Given the description of an element on the screen output the (x, y) to click on. 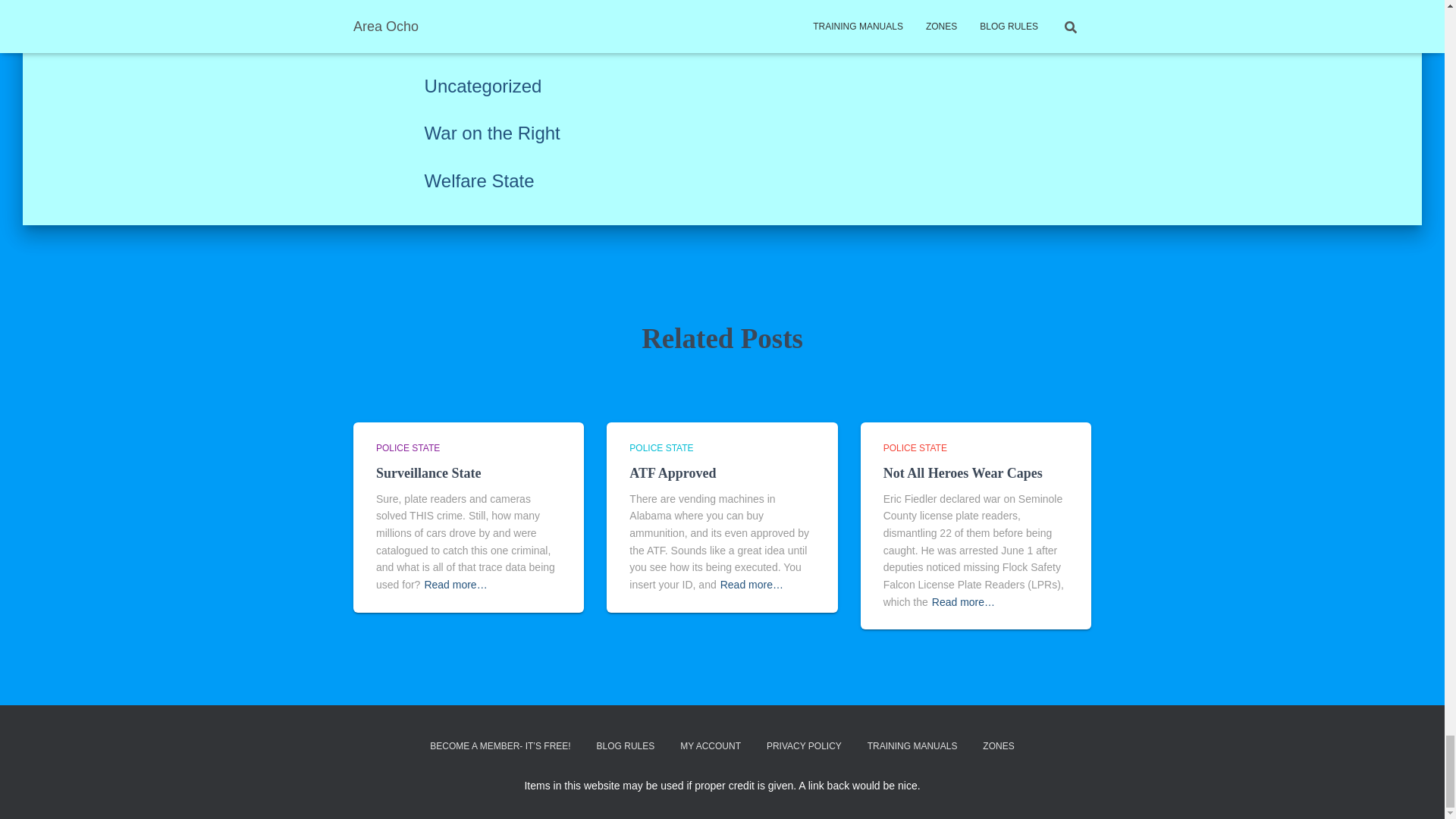
View all posts in Police State (915, 448)
Not All Heroes Wear Capes (962, 473)
View all posts in Police State (660, 448)
View all posts in Police State (407, 448)
ATF Approved (672, 473)
Surveillance State (427, 473)
